Given the description of an element on the screen output the (x, y) to click on. 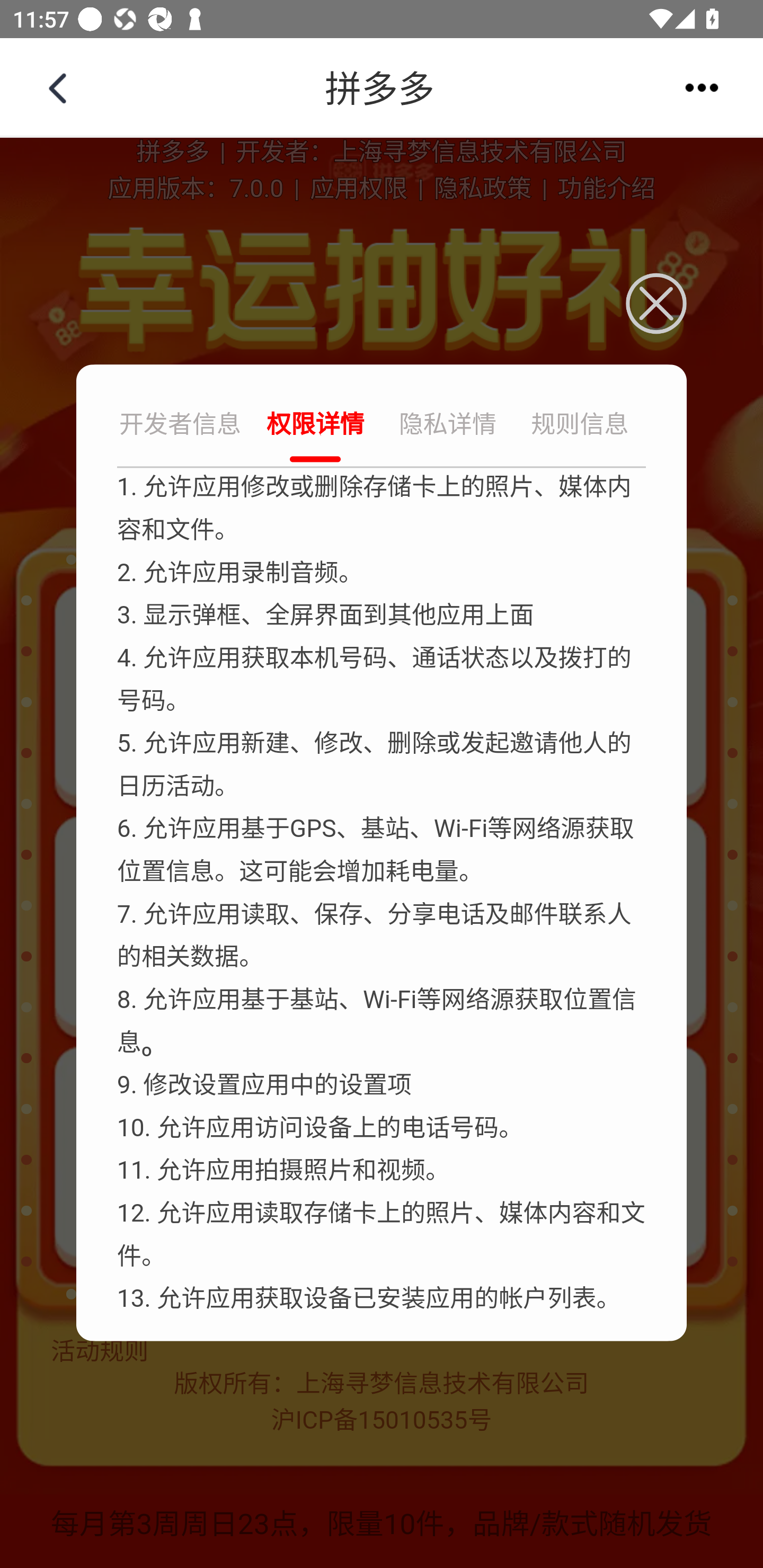
更多 (701, 86)
开发者信息  (182, 425)
权限详情 (315, 425)
隐私详情 (448, 425)
规则信息 (580, 425)
